Given the description of an element on the screen output the (x, y) to click on. 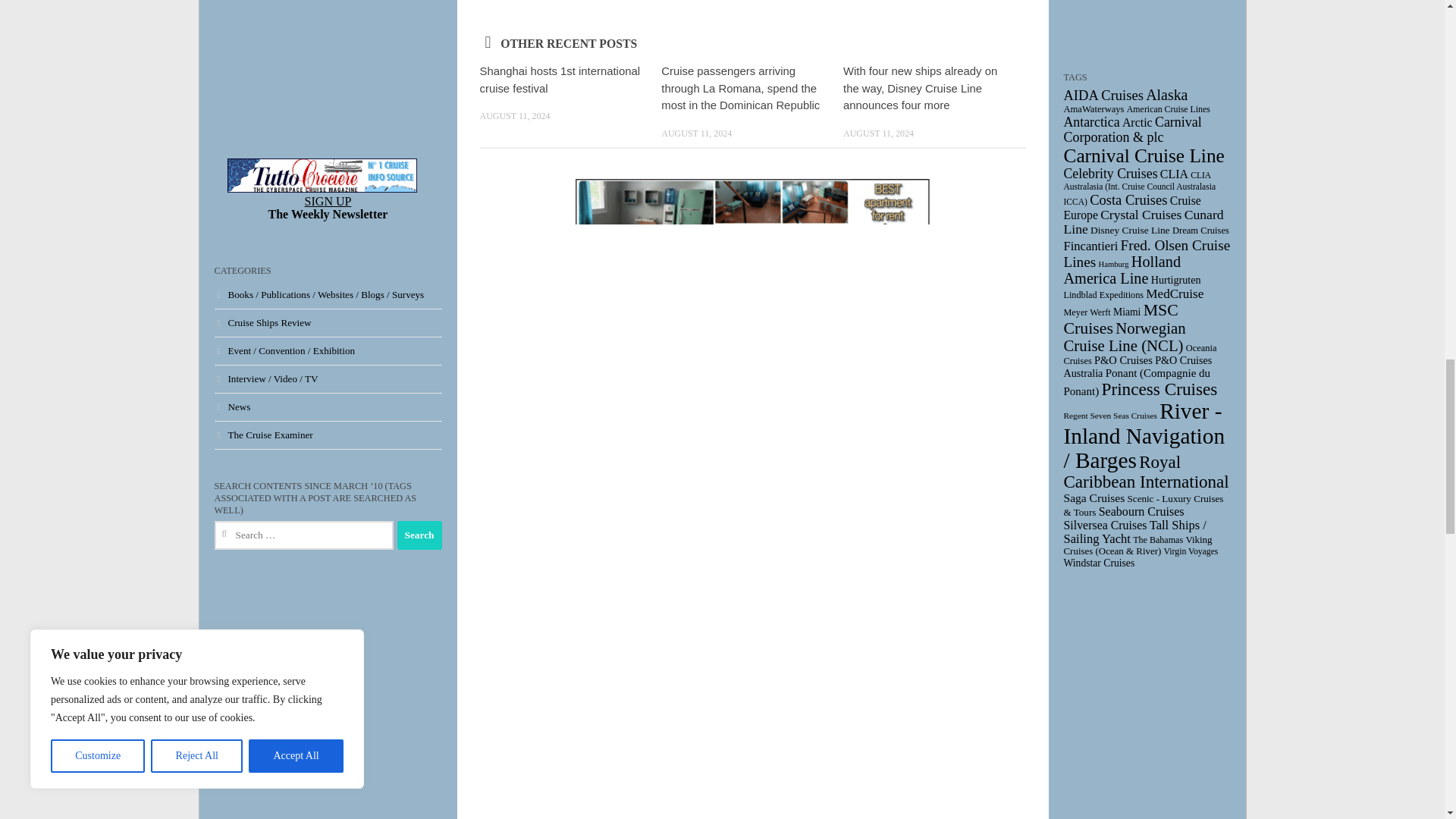
Search (419, 534)
Shanghai hosts 1st international cruise festival (559, 79)
Search (419, 534)
